Given the description of an element on the screen output the (x, y) to click on. 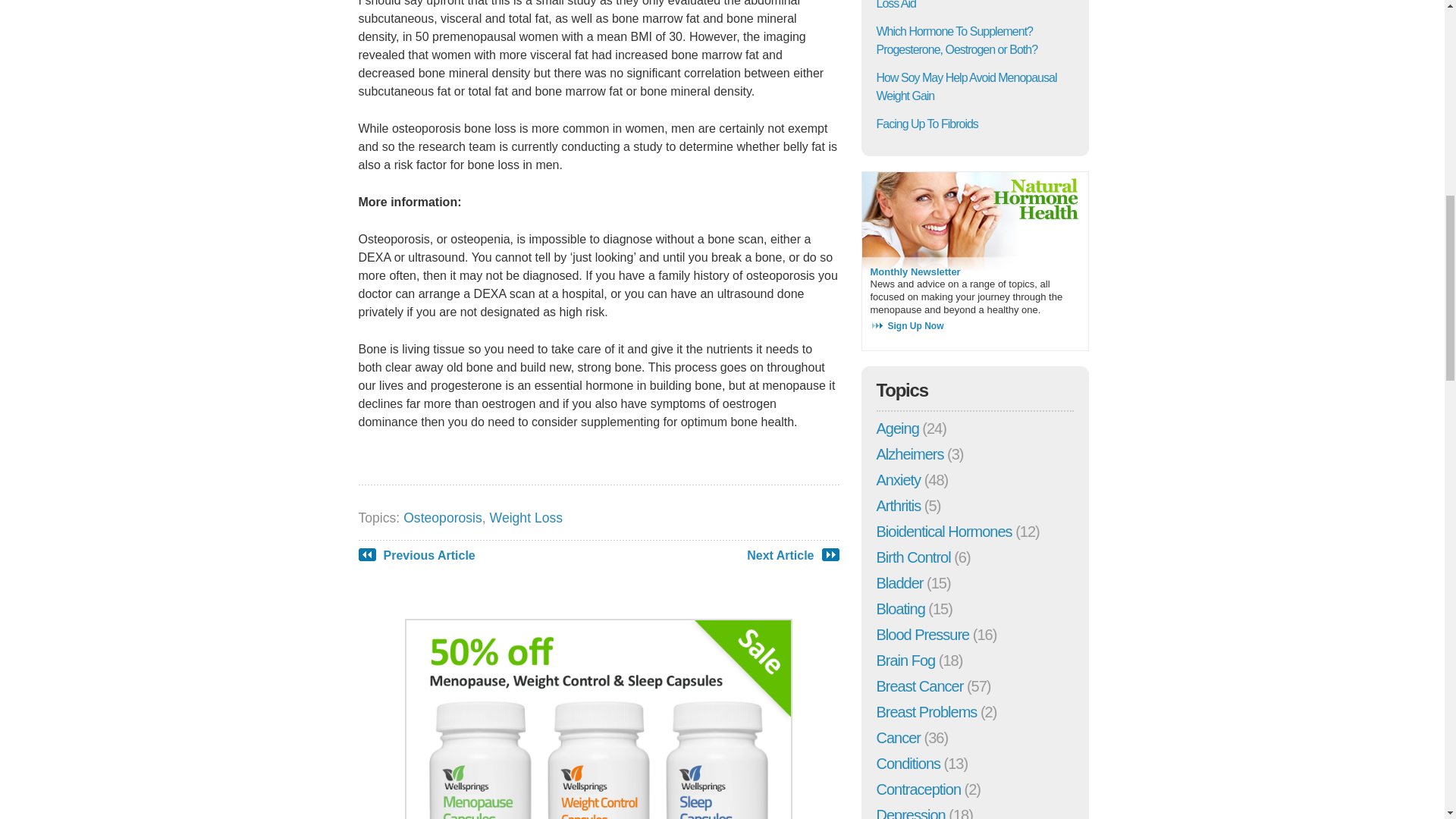
October 26, 2016 (963, 4)
August 9, 2021 (927, 123)
Osteoporosis (442, 517)
Weight Loss (526, 517)
July 22, 2010 (966, 86)
May 6, 2013 (957, 40)
Previous Article (430, 554)
Next Article (779, 554)
